Given the description of an element on the screen output the (x, y) to click on. 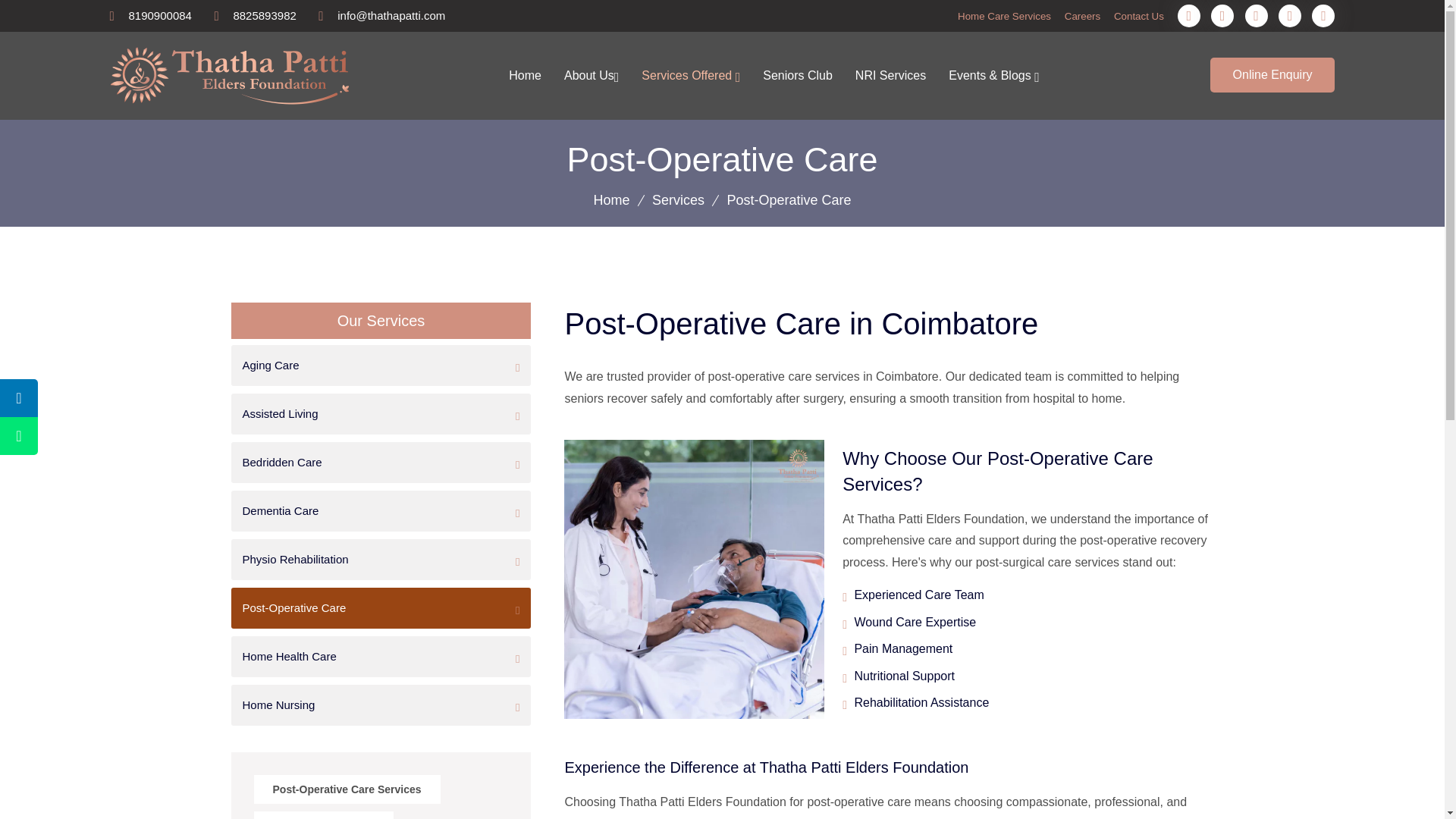
Seniors Club (797, 75)
Home (524, 75)
NRI Services (891, 75)
Home (610, 200)
8190900084 (160, 15)
Aging Care (380, 364)
Our Services (381, 320)
About Us (591, 75)
Online Enquiry (1272, 74)
Services Offered (690, 75)
